Given the description of an element on the screen output the (x, y) to click on. 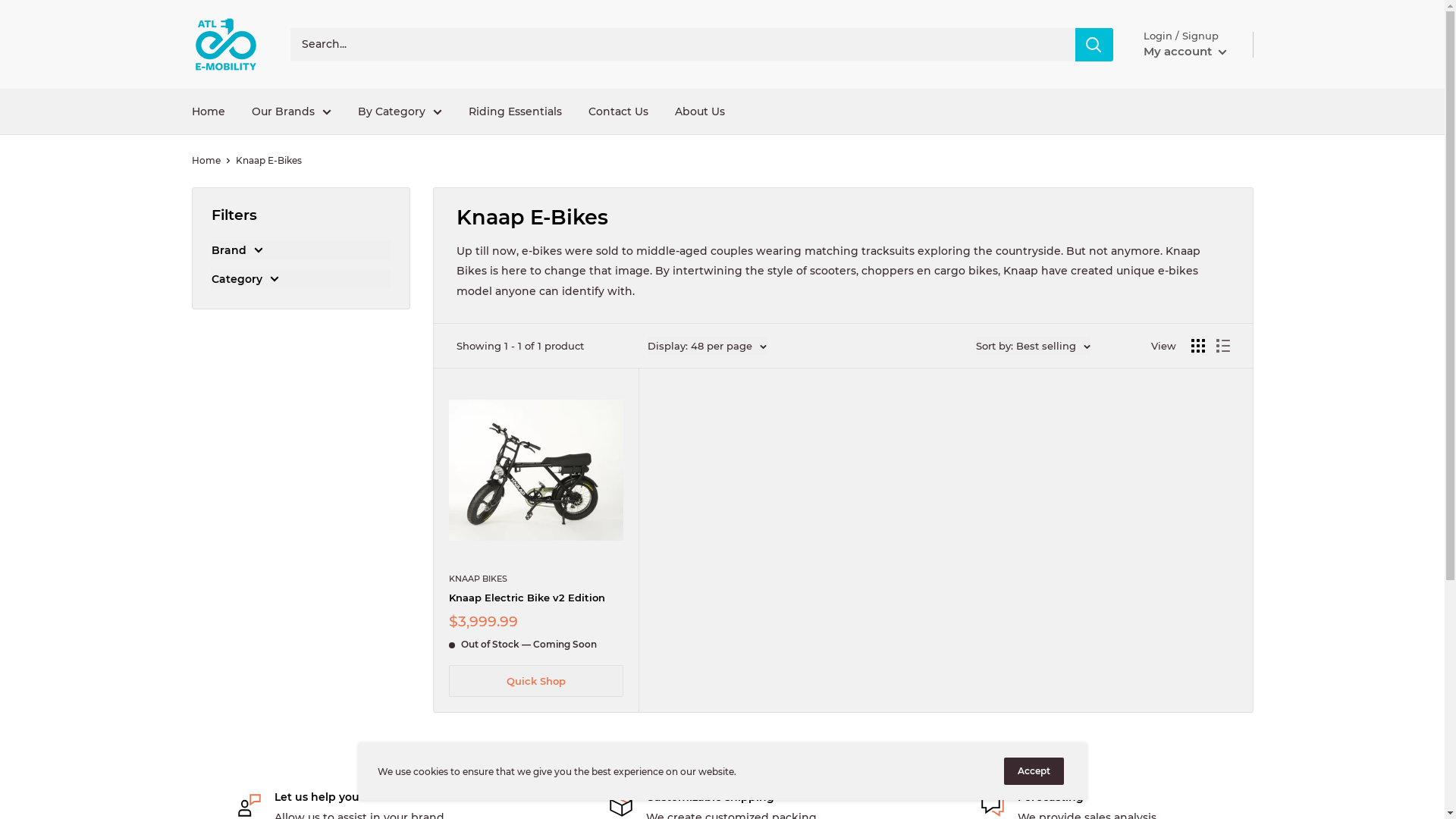
Home Element type: text (207, 111)
Quick Shop Element type: text (535, 680)
Contact Us Element type: text (618, 111)
Riding Essentials Element type: text (514, 111)
Home Element type: text (205, 160)
Accept Element type: text (1033, 770)
Category Element type: text (299, 278)
Display: 48 per page Element type: text (706, 345)
By Category Element type: text (399, 111)
Brand Element type: text (299, 250)
About Us Element type: text (699, 111)
Our Brands Element type: text (291, 111)
KNAAP BIKES Element type: text (535, 578)
My account Element type: text (1184, 51)
Knaap Electric Bike v2 Edition Element type: text (535, 597)
Sort by: Best selling Element type: text (1032, 345)
